Given the description of an element on the screen output the (x, y) to click on. 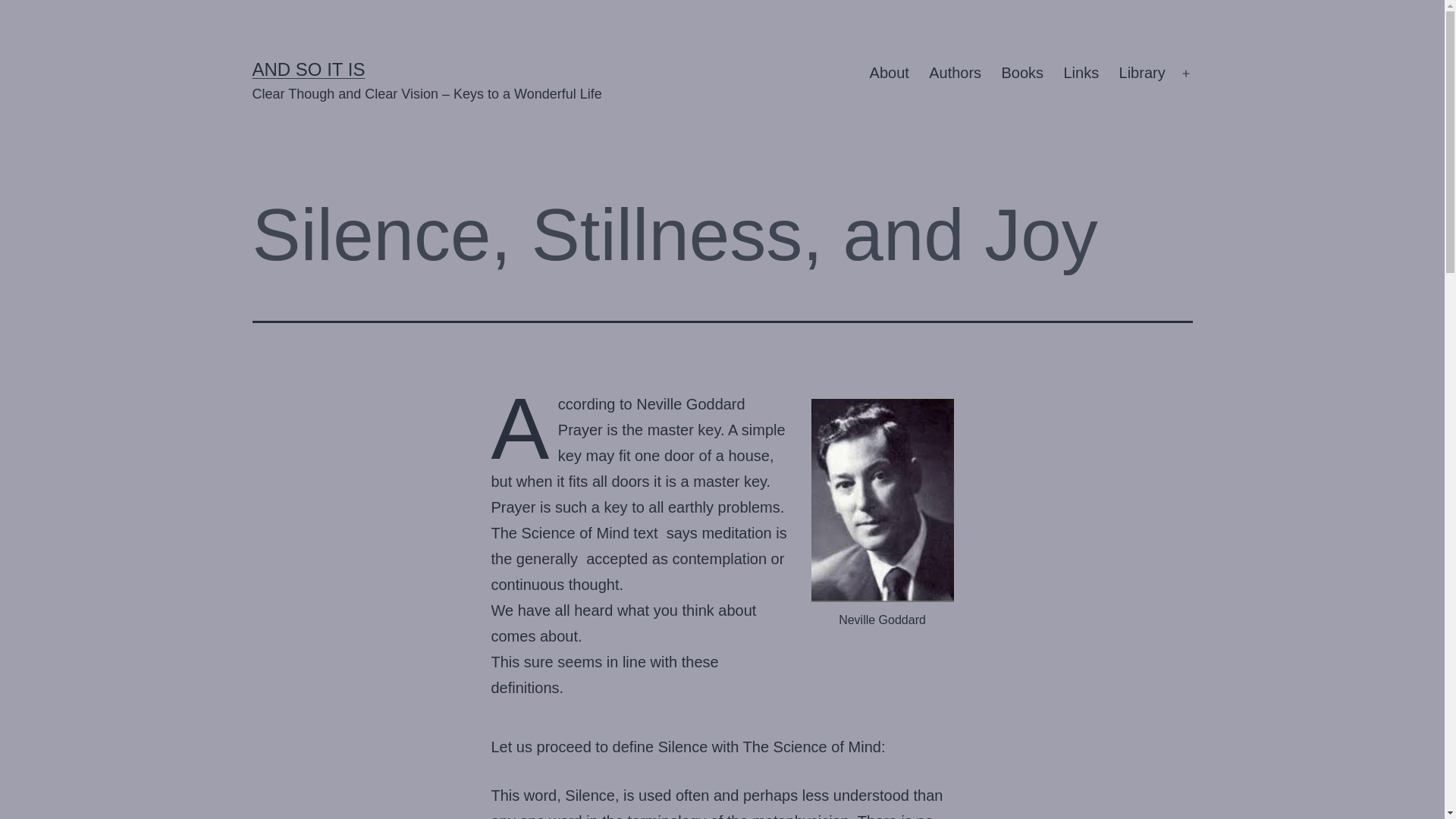
Books (1021, 73)
AND SO IT IS (308, 68)
Authors (954, 73)
Links (1080, 73)
About (888, 73)
Library (1141, 73)
